Given the description of an element on the screen output the (x, y) to click on. 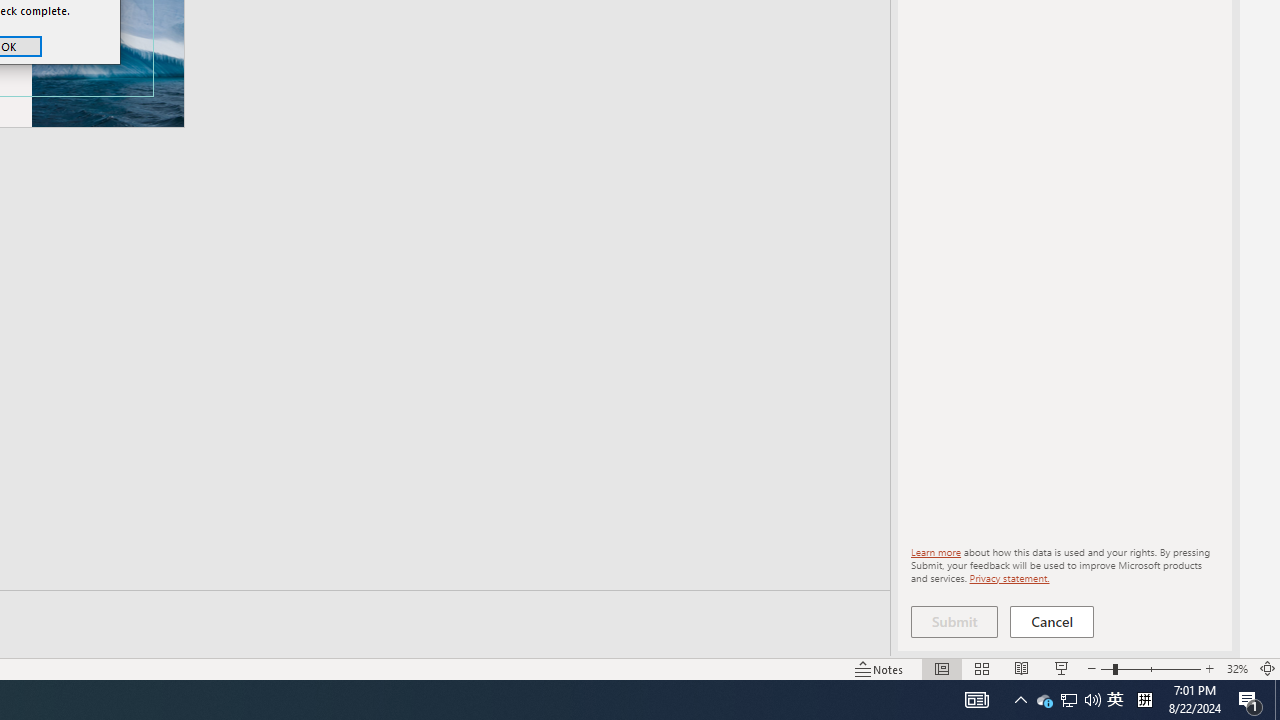
Learn more (936, 551)
Privacy statement. (1044, 699)
